Given the description of an element on the screen output the (x, y) to click on. 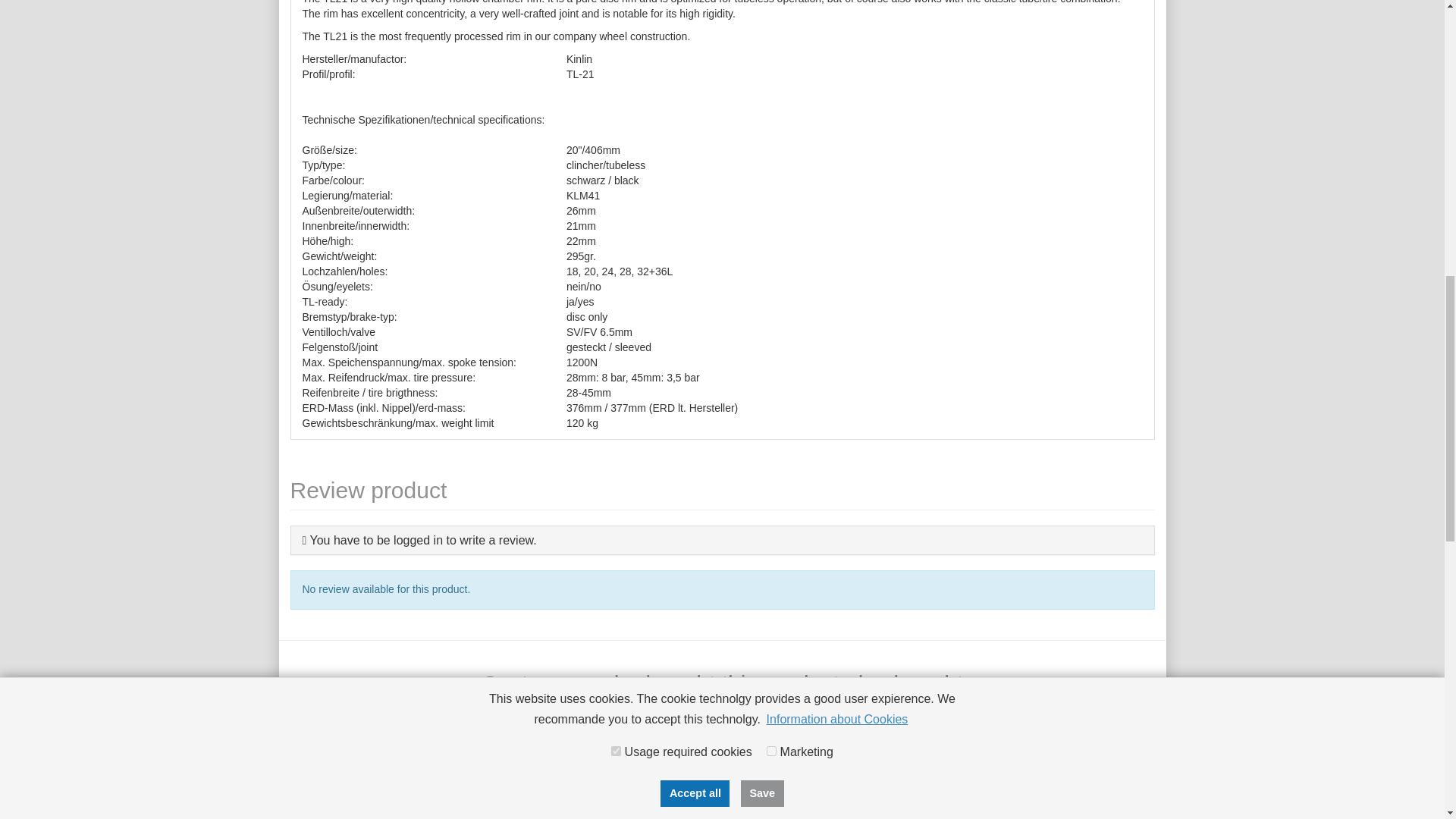
Chain Idler Milan SL, Milan GT rear idler (833, 780)
Chain Idler Milan SL, Milan GT font idler (389, 780)
PE Chain Tube 10 cm - 200 cm 120 cm (611, 780)
